Given the description of an element on the screen output the (x, y) to click on. 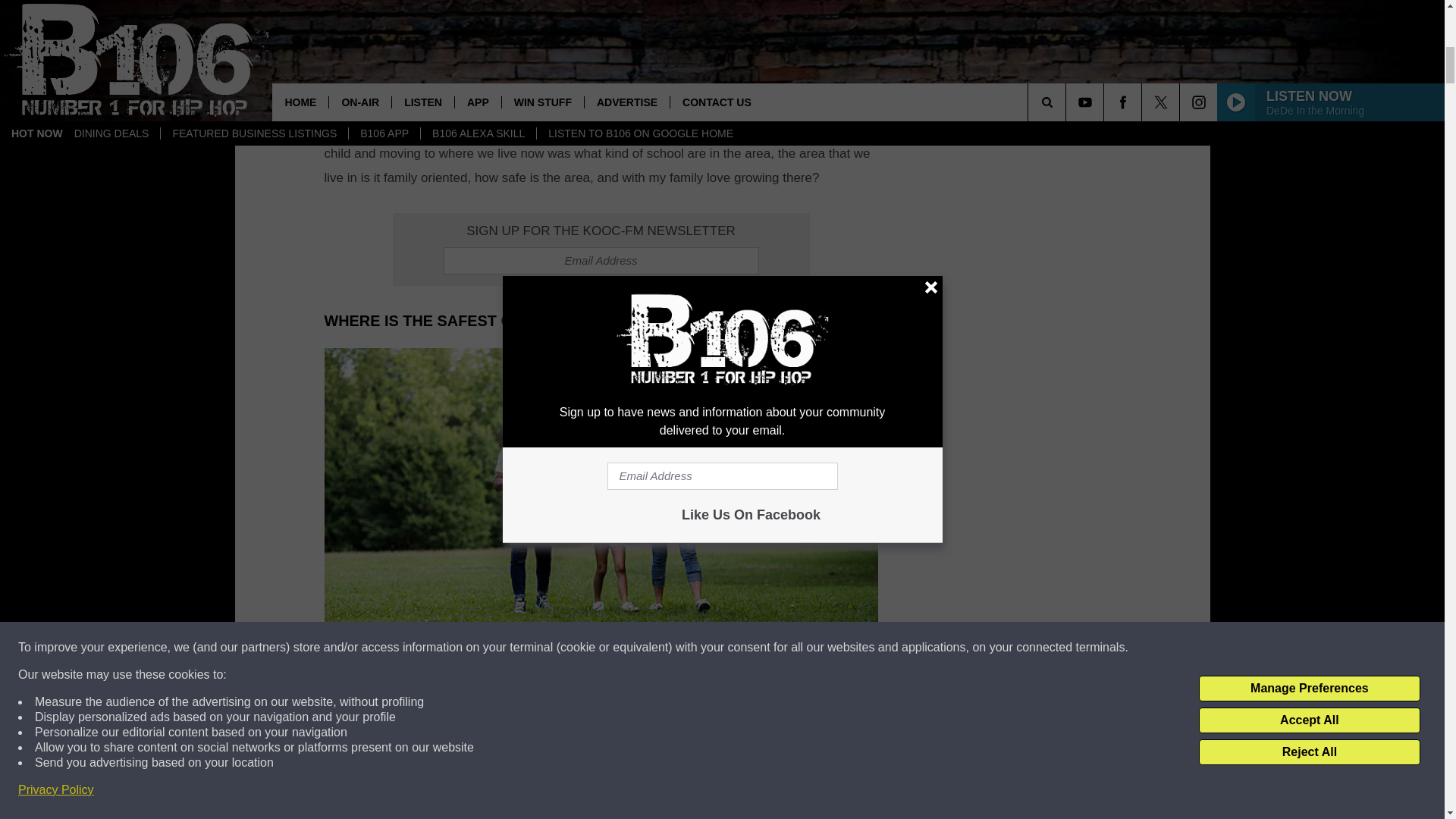
Email Address (600, 260)
